Given the description of an element on the screen output the (x, y) to click on. 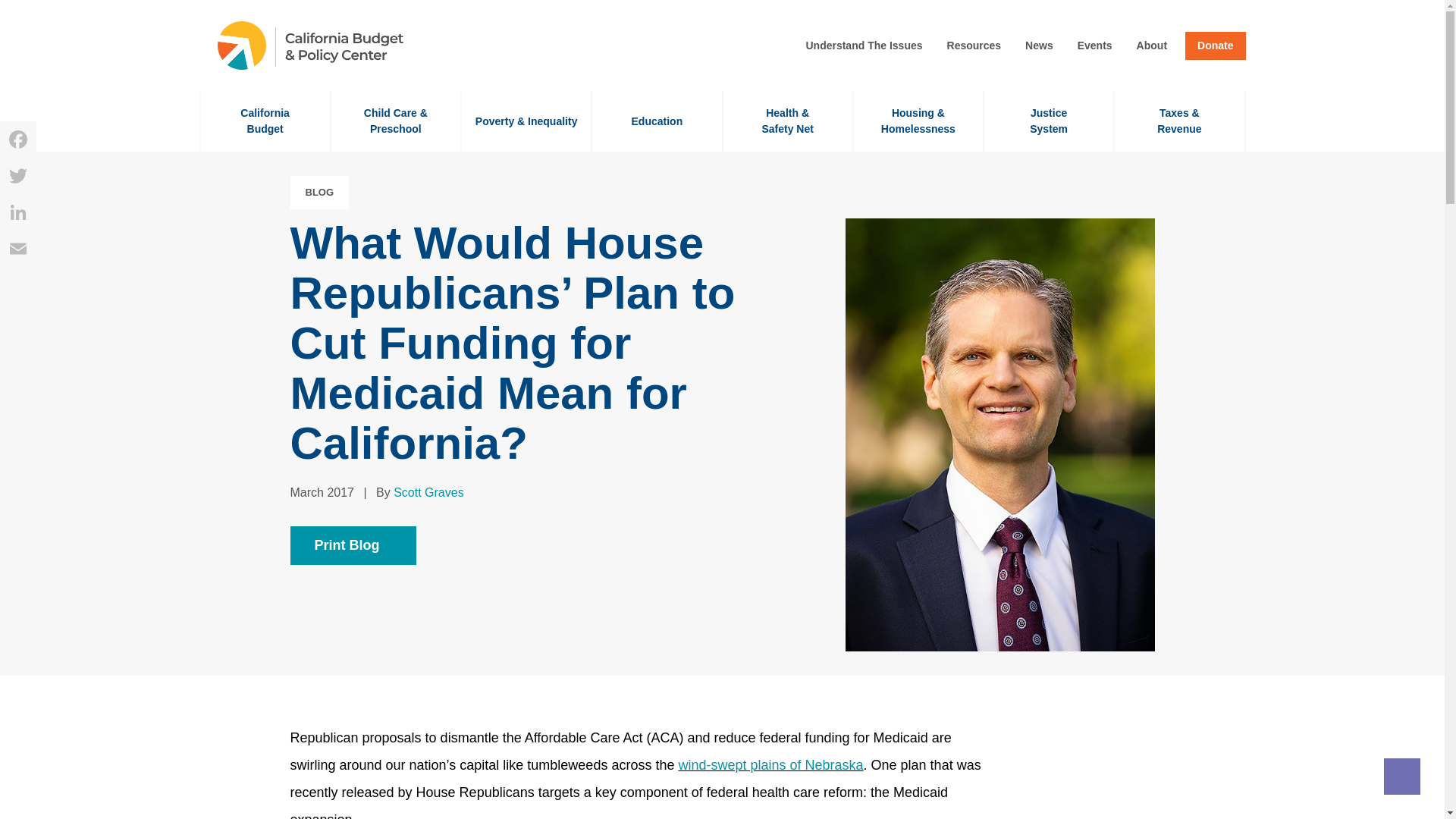
Education (656, 120)
Twitter (18, 176)
About (1152, 45)
Understand The Issues (863, 45)
News (1039, 45)
Resources (973, 45)
Events (1094, 45)
Email (18, 248)
Donate (1214, 45)
LinkedIn (18, 212)
